Given the description of an element on the screen output the (x, y) to click on. 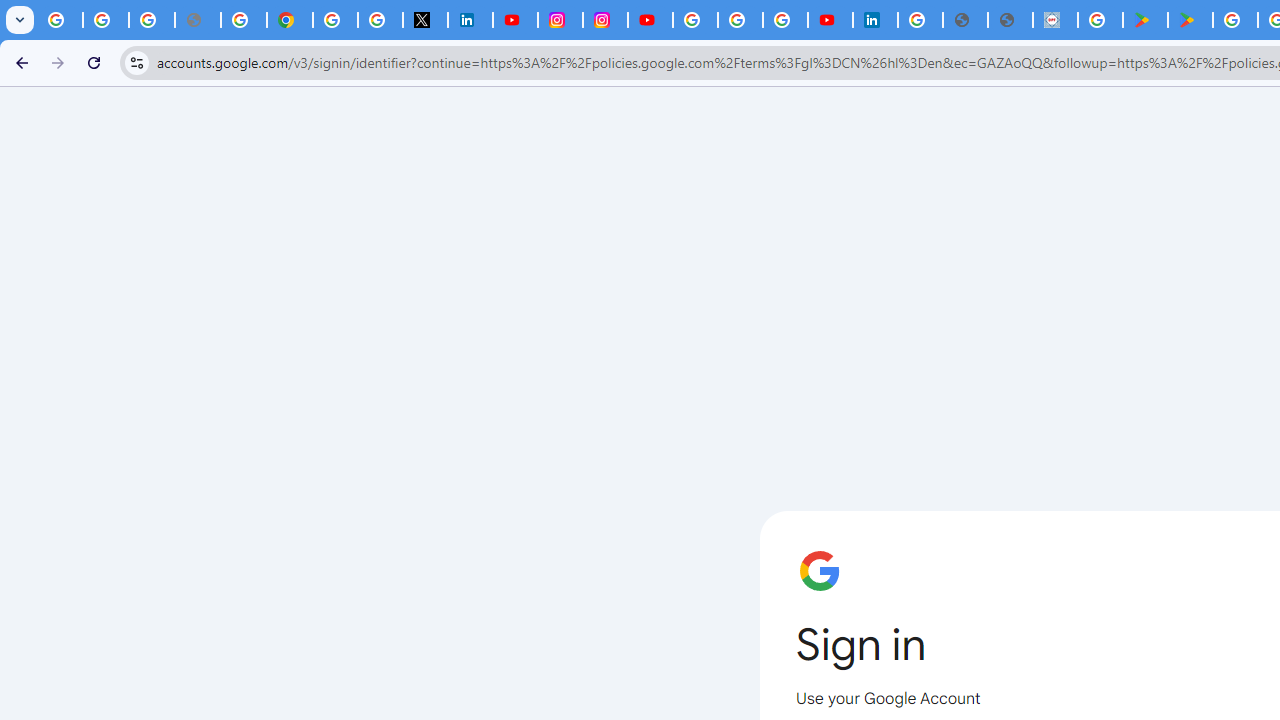
Sign in - Google Accounts (695, 20)
Sign in - Google Accounts (920, 20)
support.google.com - Network error (198, 20)
Android Apps on Google Play (1145, 20)
Privacy Help Center - Policies Help (244, 20)
